Given the description of an element on the screen output the (x, y) to click on. 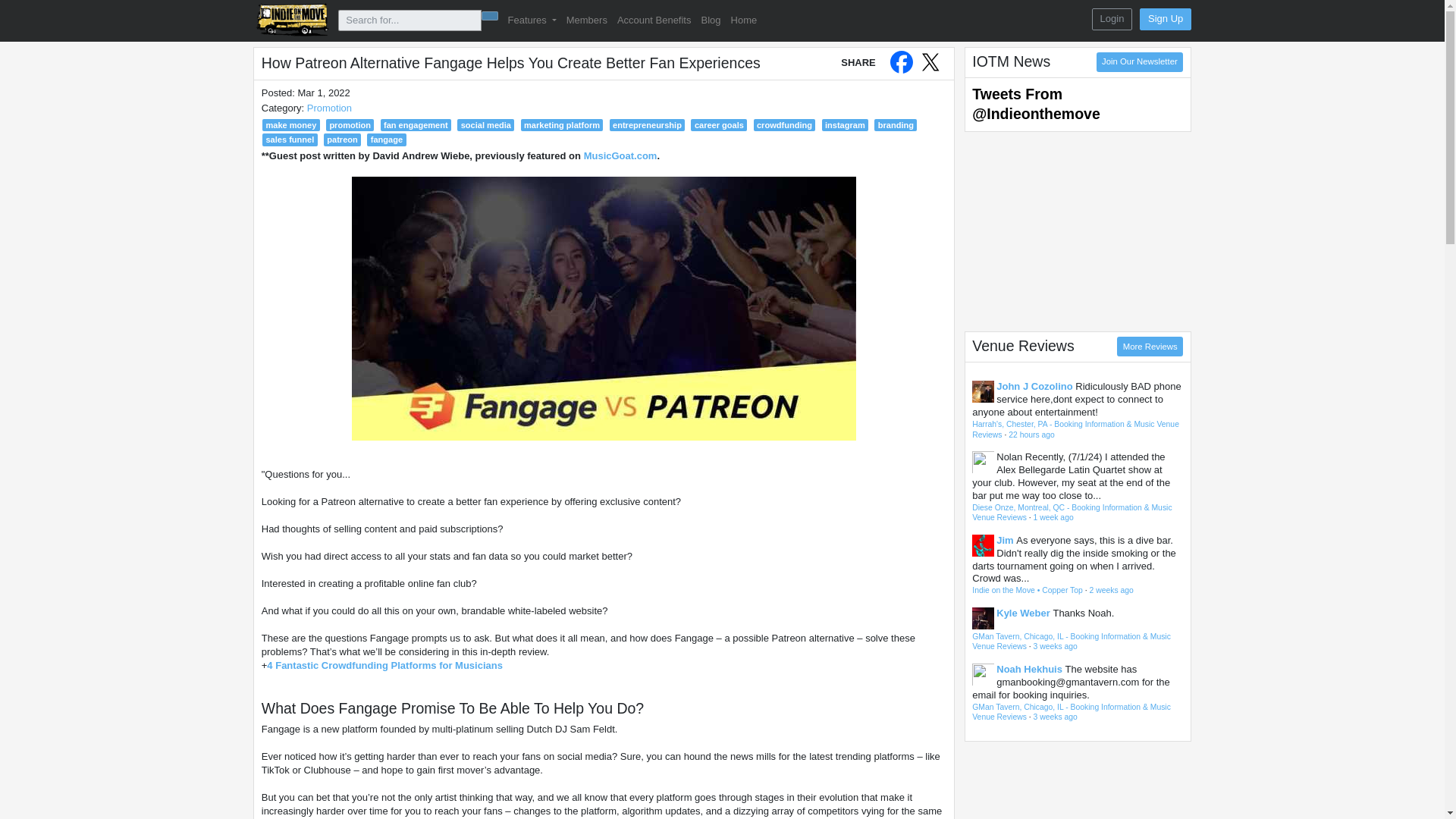
career goals (718, 124)
Blog (710, 20)
instagram (845, 124)
Sign Up (1165, 19)
Advertisement (1077, 230)
fan engagement (415, 124)
Promotion (329, 107)
entrepreneurship (647, 124)
promotion (350, 124)
Advertisement (1077, 782)
social media (485, 124)
marketing platform (562, 124)
Home (743, 20)
Account Benefits (653, 20)
crowdfunding (784, 124)
